Given the description of an element on the screen output the (x, y) to click on. 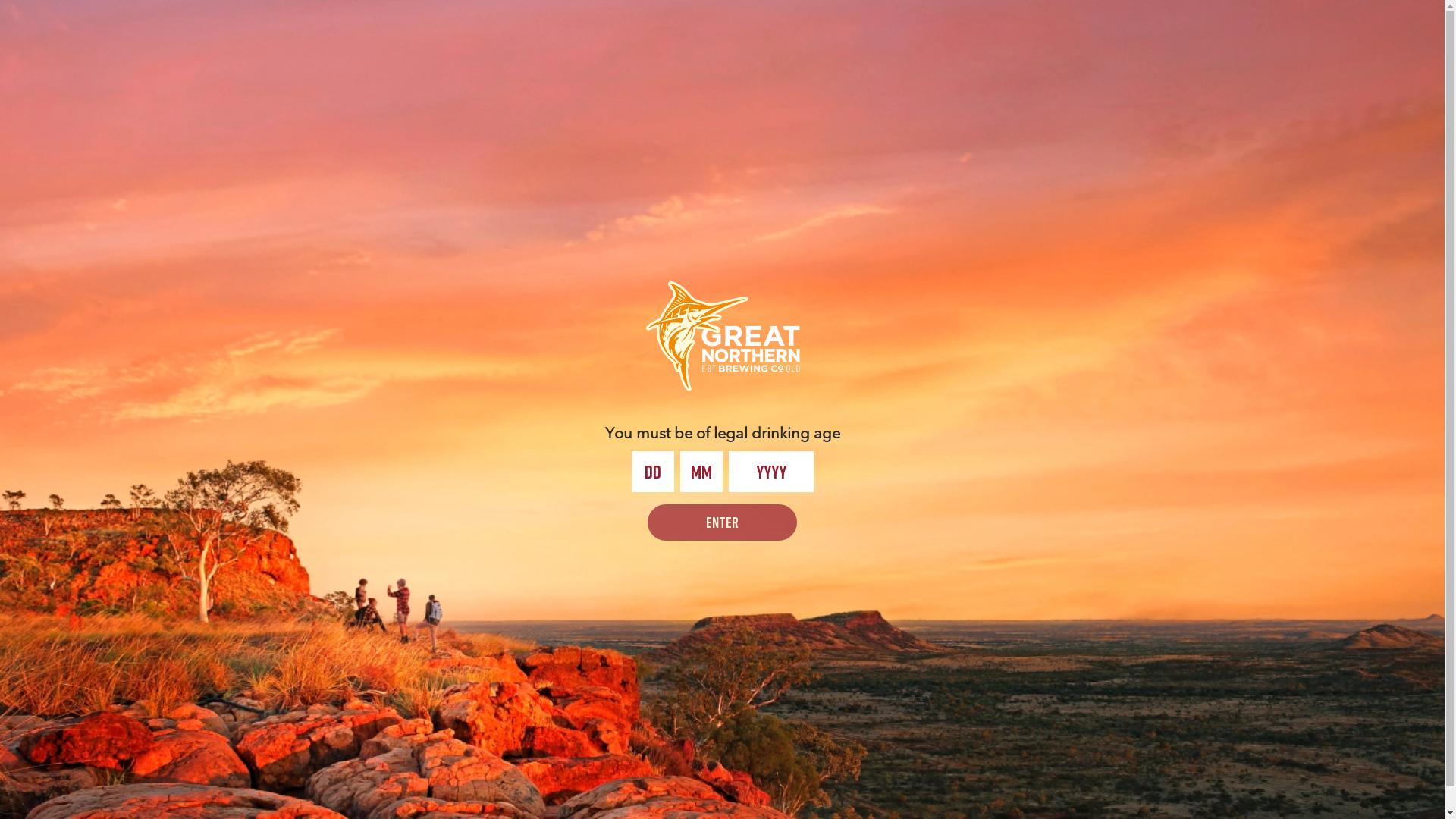
enter Element type: text (722, 521)
Subscribe Element type: text (1351, 598)
